Given the description of an element on the screen output the (x, y) to click on. 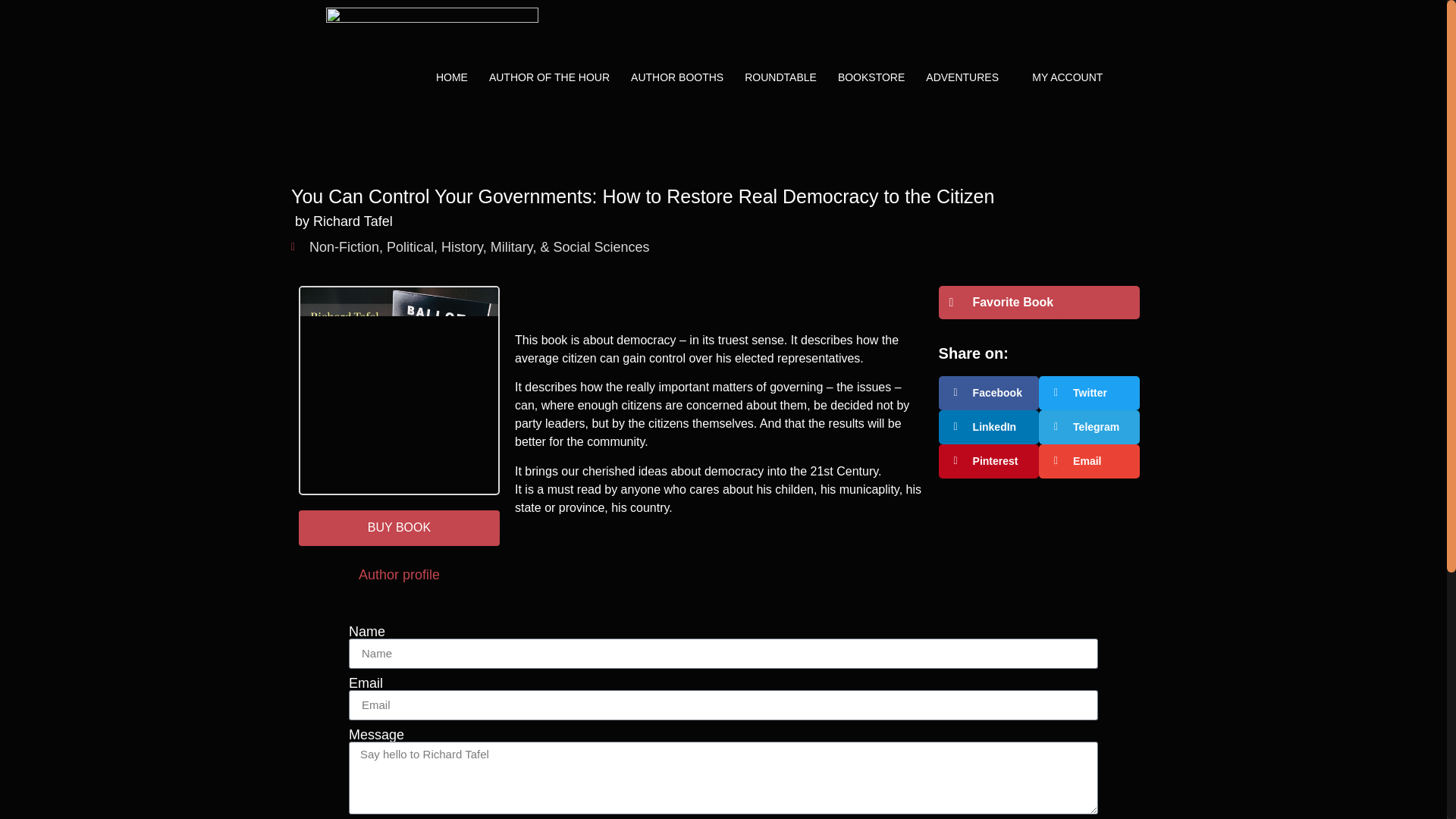
AUTHOR BOOTHS (676, 77)
BUY BOOK (398, 528)
Author profile (398, 575)
Non-Fiction (343, 246)
ADVENTURES (962, 77)
HOME (452, 77)
BOOKSTORE (871, 77)
ROUNDTABLE (780, 77)
AUTHOR OF THE HOUR (549, 77)
MY ACCOUNT (1067, 77)
Favorite Book (1001, 302)
